Given the description of an element on the screen output the (x, y) to click on. 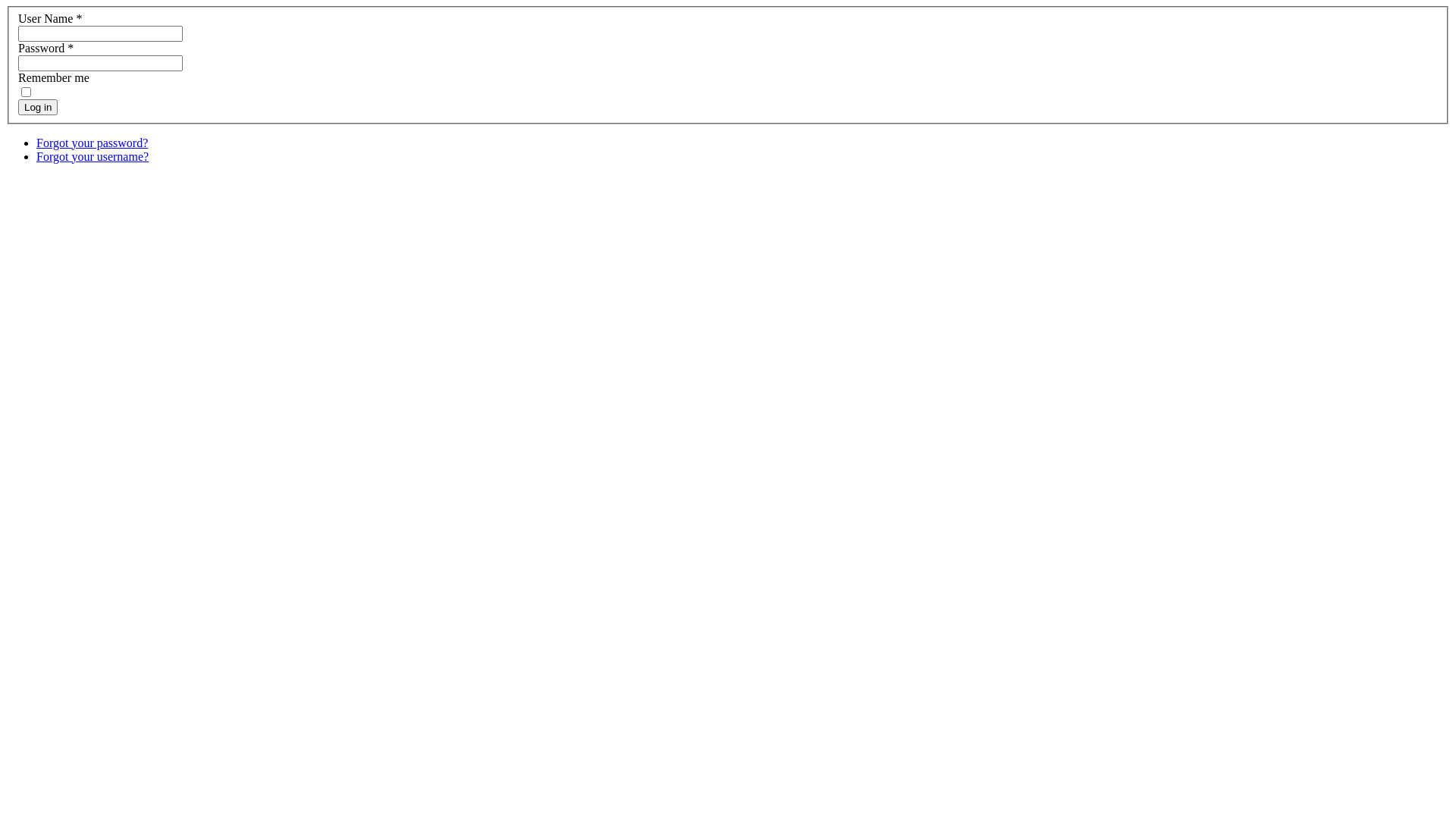
Log in Element type: text (37, 107)
Forgot your password? Element type: text (91, 142)
Forgot your username? Element type: text (92, 156)
